Given the description of an element on the screen output the (x, y) to click on. 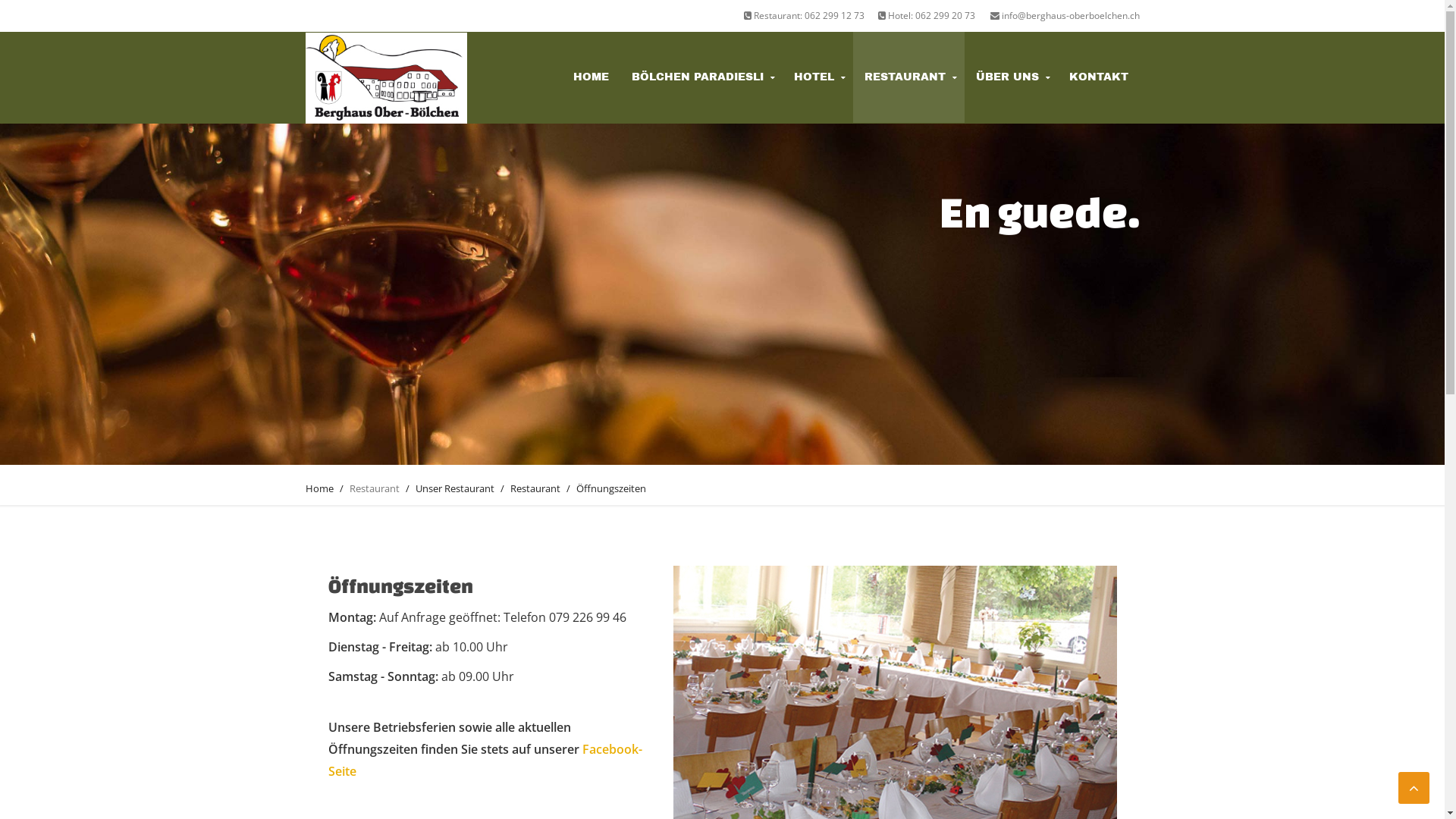
Hotel: 062 299 20 73 Element type: text (926, 15)
Unser Restaurant Element type: text (454, 488)
info@berghaus-oberboelchen.ch Element type: text (1064, 15)
KONTAKT Element type: text (1098, 76)
HOTEL Element type: text (817, 76)
Restaurant: 062 299 12 73 Element type: text (803, 15)
Restaurant Element type: text (534, 488)
RESTAURANT Element type: text (907, 76)
Home Element type: text (318, 488)
Facebook-Seite Element type: text (484, 759)
HOME Element type: text (590, 76)
